Given the description of an element on the screen output the (x, y) to click on. 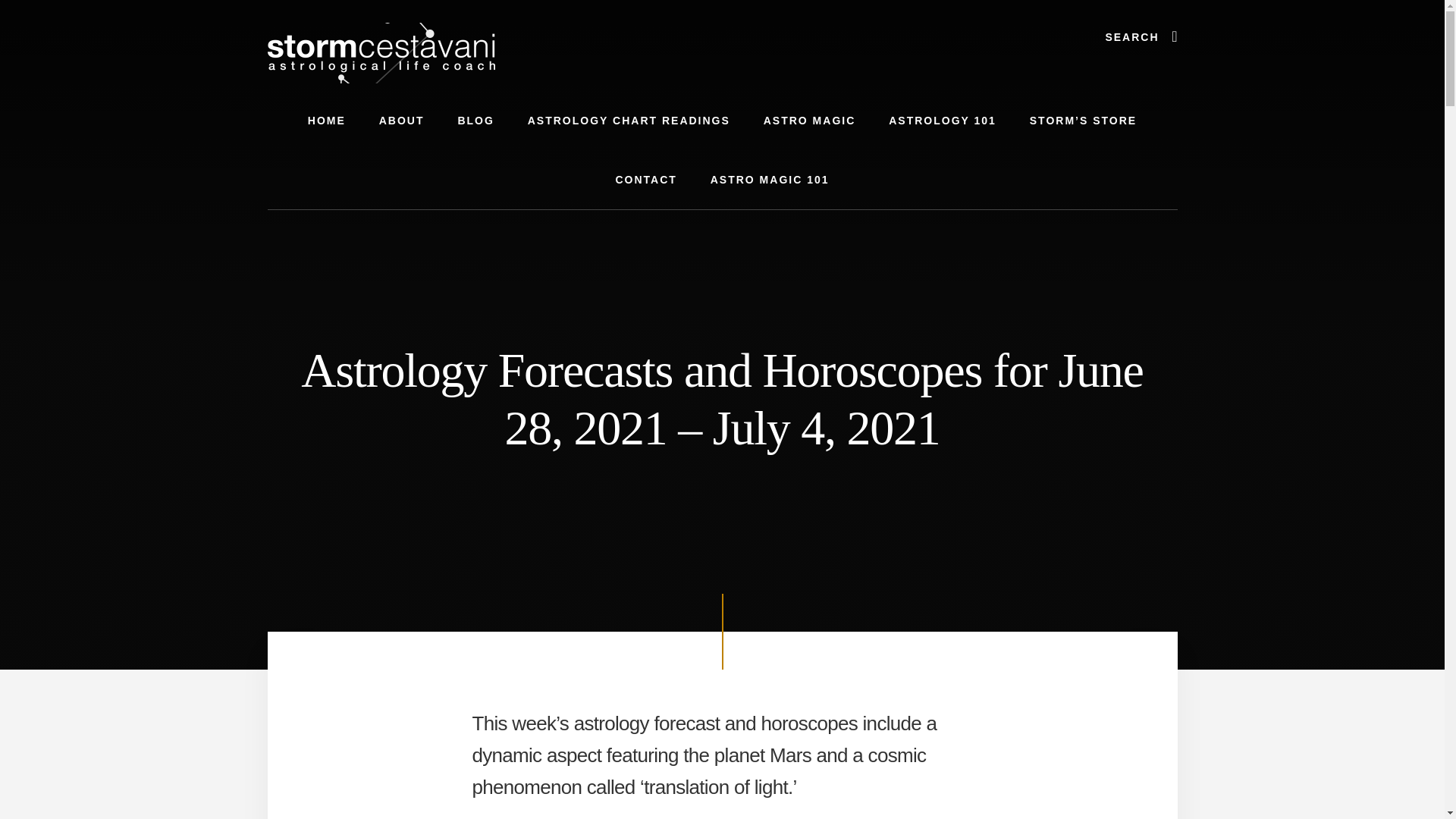
HOME (326, 119)
BLOG (475, 119)
CONTACT (645, 179)
ABOUT (401, 119)
ASTRO MAGIC 101 (769, 179)
ASTROLOGY CHART READINGS (628, 119)
ASTROLOGY 101 (942, 119)
ASTRO MAGIC (809, 119)
